Given the description of an element on the screen output the (x, y) to click on. 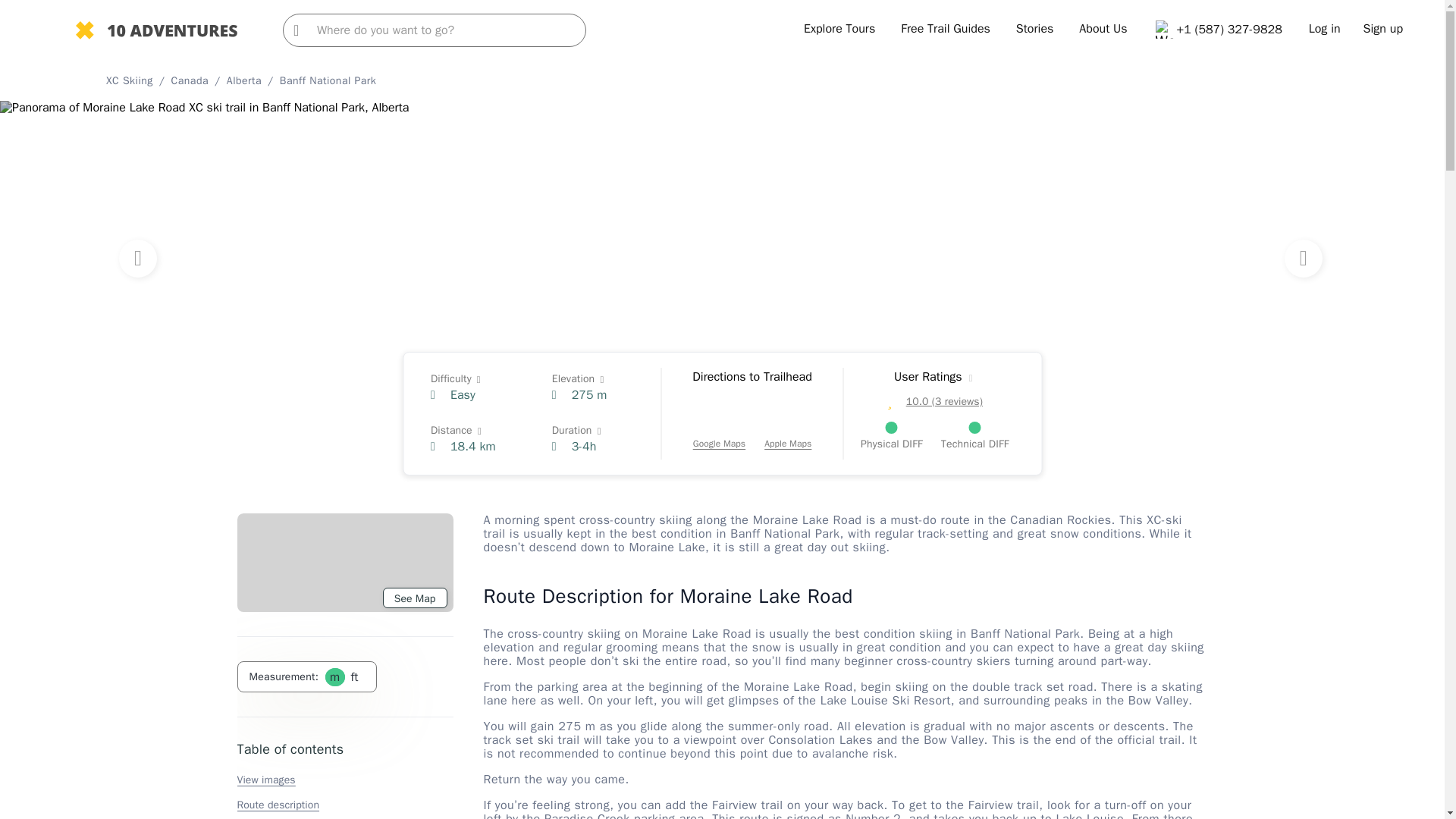
Canada (189, 80)
Explore Tours (839, 28)
Log in (1324, 28)
Stories (1034, 28)
metric (333, 676)
10Adventures.com (156, 31)
XC Skiing (129, 80)
Banff National Park (328, 80)
Alberta (244, 80)
imperial (353, 676)
